Given the description of an element on the screen output the (x, y) to click on. 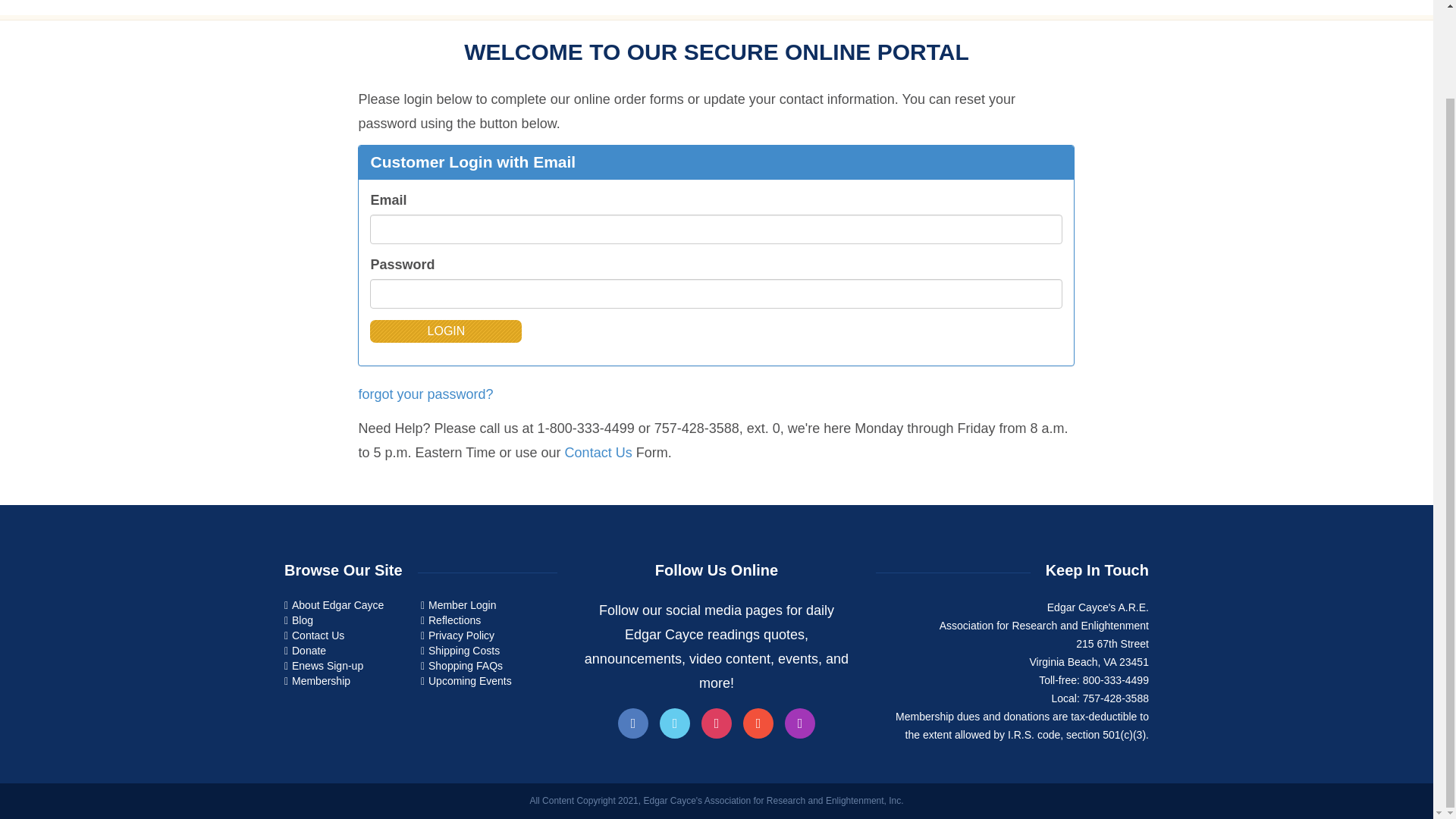
Upcoming Events (470, 680)
Shopping FAQs (465, 665)
Membership (321, 680)
forgot your password? (425, 394)
Blog (302, 620)
Donate (309, 650)
Contact Us (317, 635)
Shipping Costs (463, 650)
Customer Login with Email (472, 161)
